Given the description of an element on the screen output the (x, y) to click on. 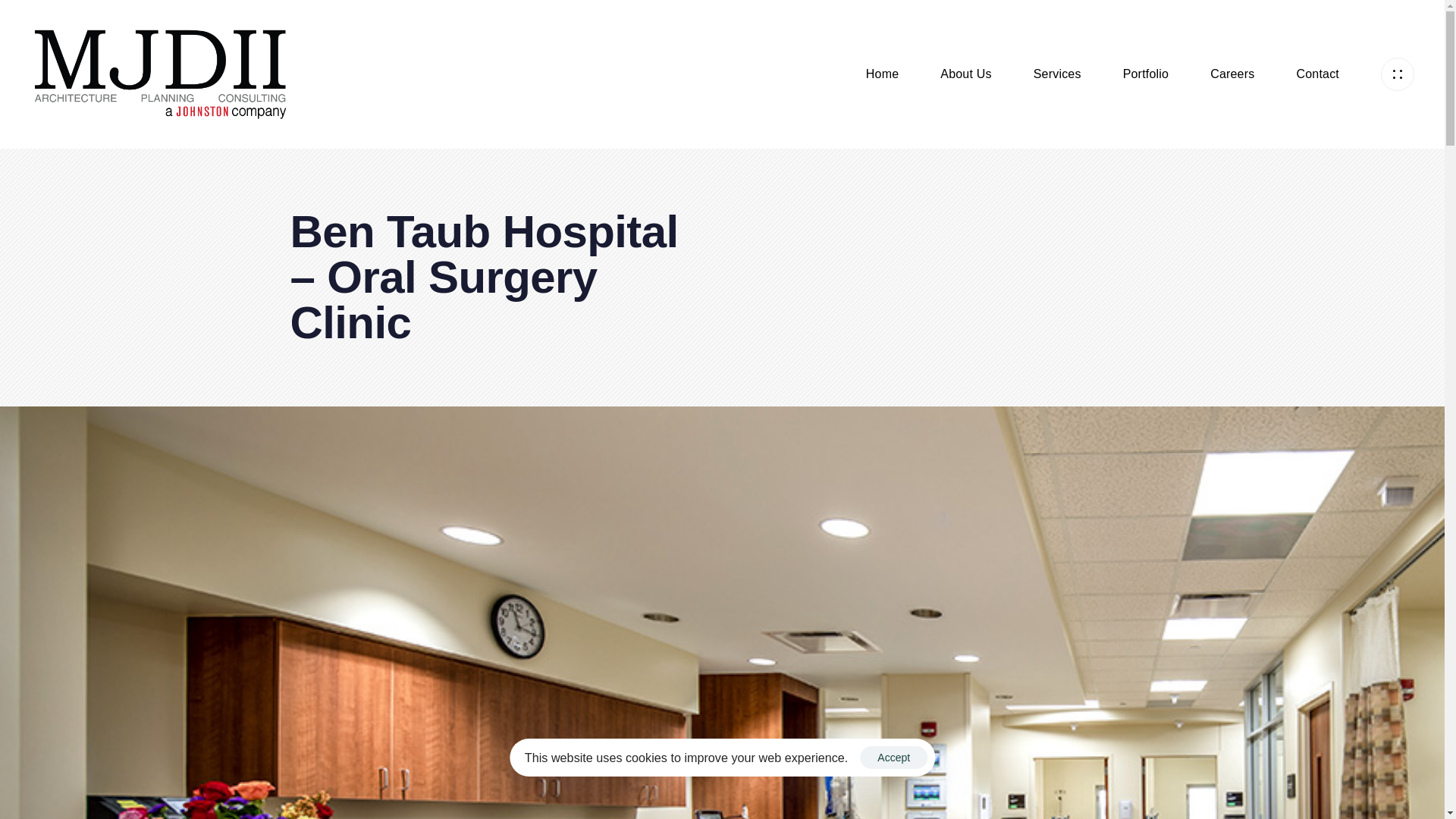
Home (903, 74)
Careers (1252, 74)
Contact (1337, 74)
About Us (986, 74)
Services (1077, 74)
Portfolio (1166, 74)
